Given the description of an element on the screen output the (x, y) to click on. 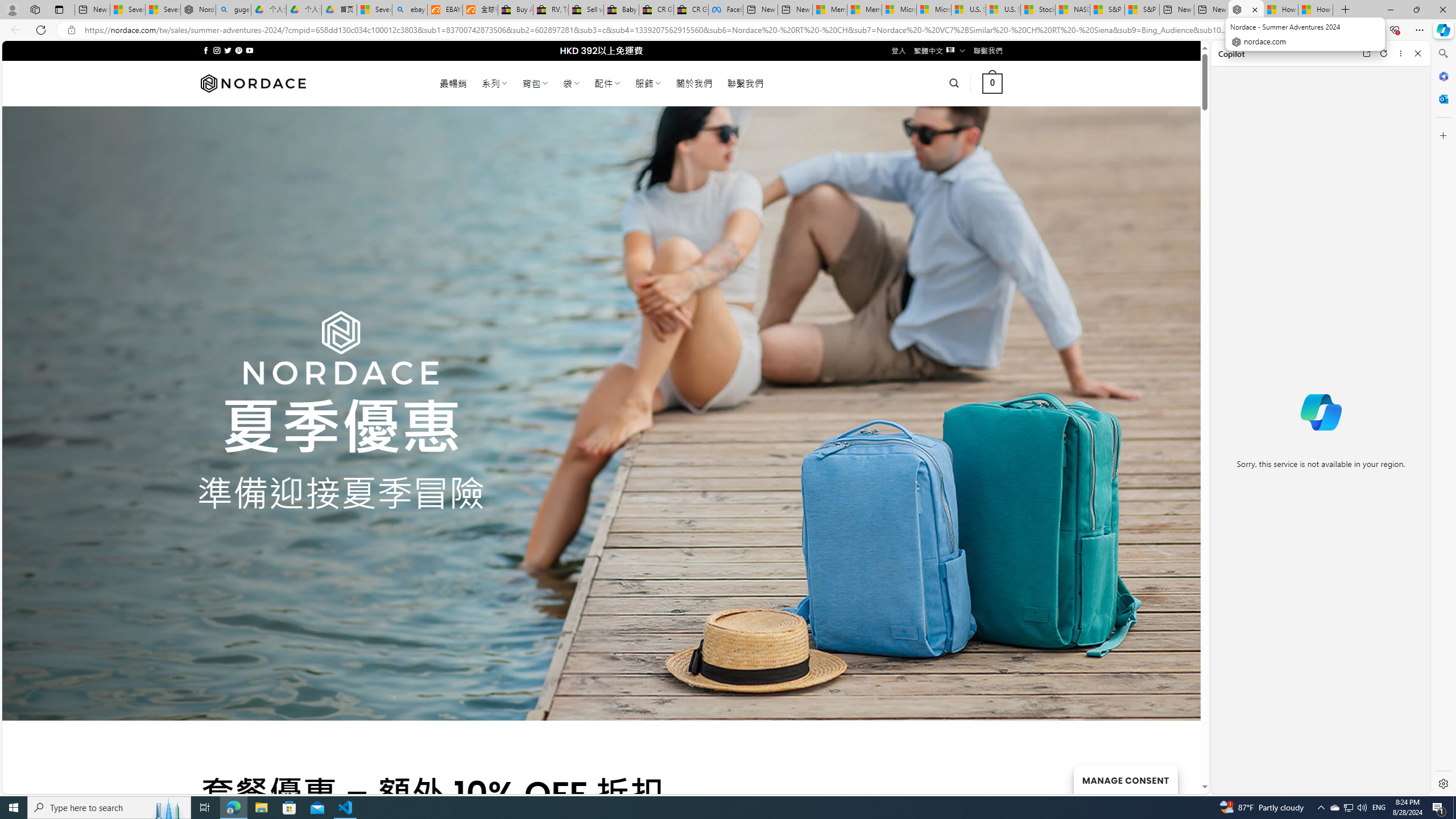
Outlook (1442, 98)
Follow on YouTube (249, 50)
